Given the description of an element on the screen output the (x, y) to click on. 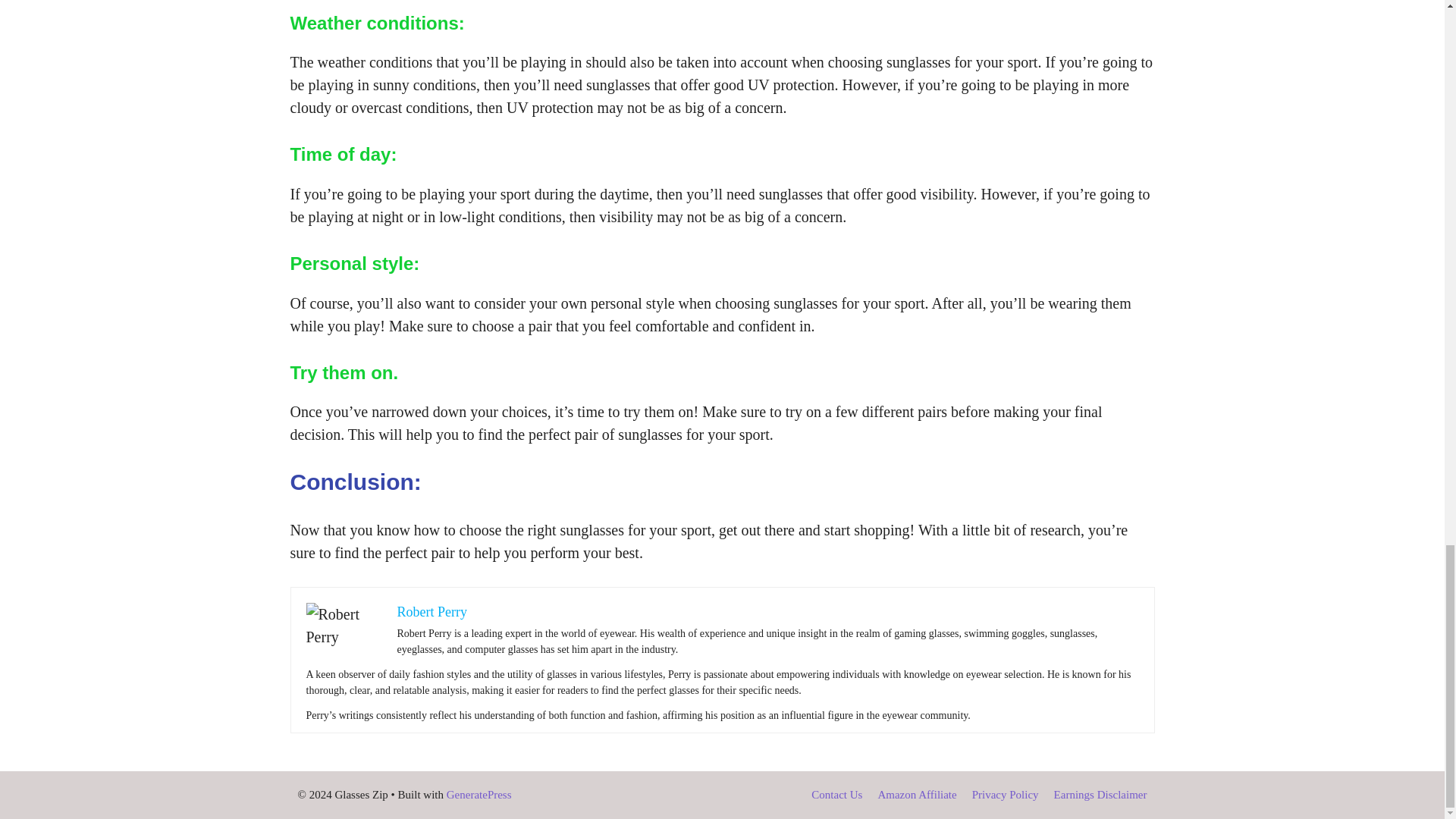
GeneratePress (479, 794)
Privacy Policy (1005, 794)
Amazon Affiliate (916, 794)
Robert Perry (432, 611)
Contact Us (835, 794)
Earnings Disclaimer (1100, 794)
